Given the description of an element on the screen output the (x, y) to click on. 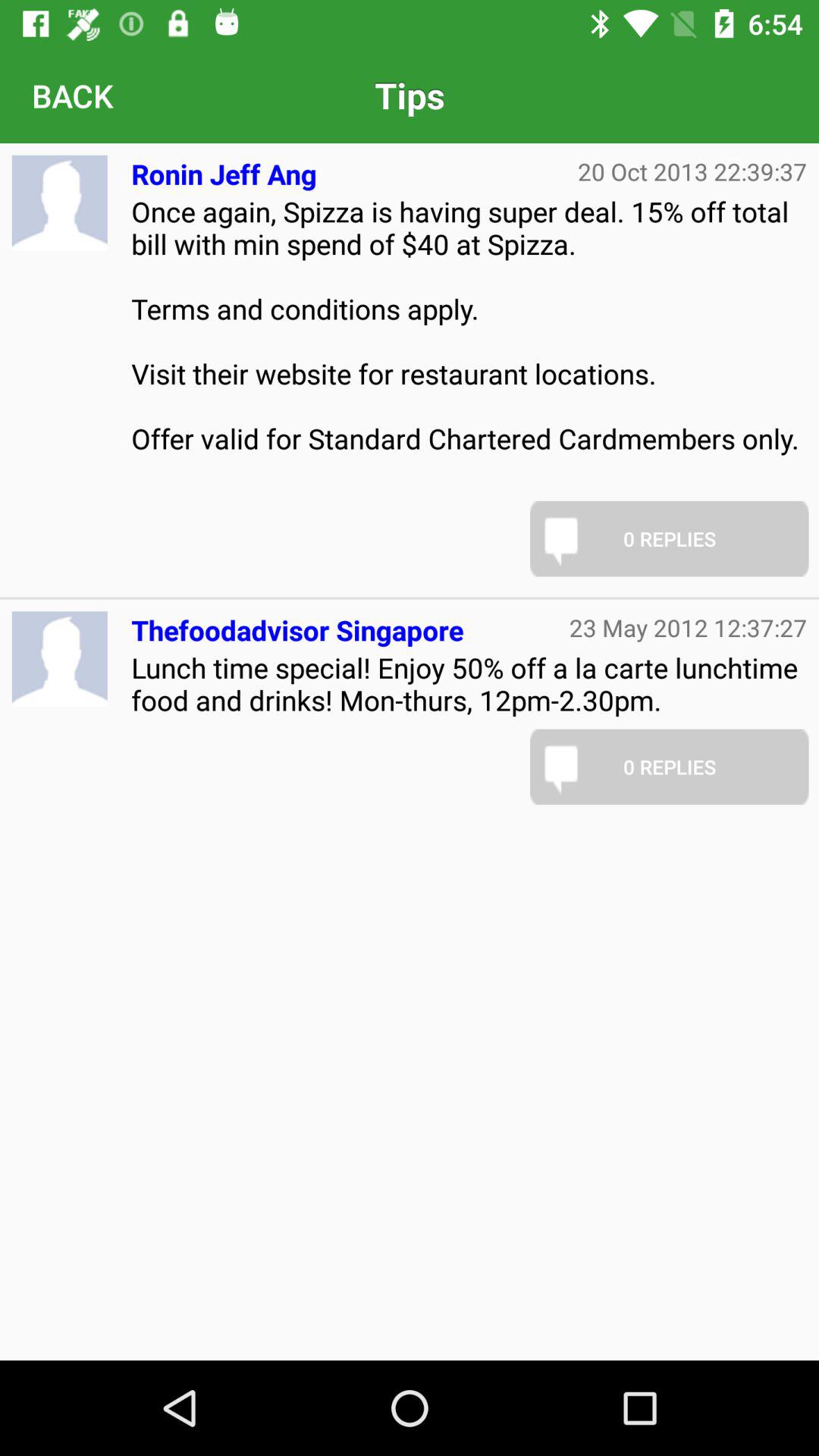
click the icon above the 0 replies icon (688, 627)
